Given the description of an element on the screen output the (x, y) to click on. 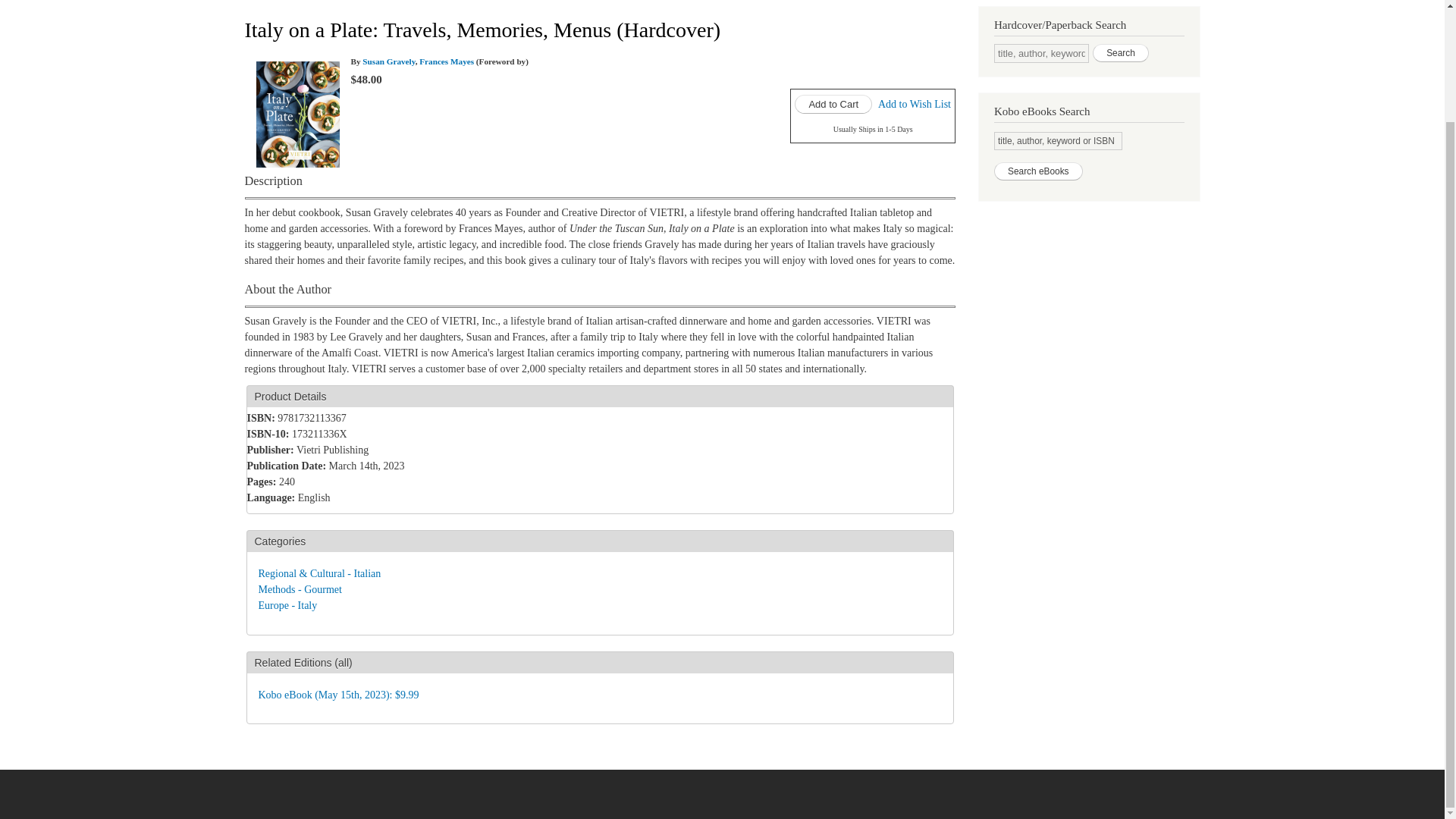
Add to Cart (833, 104)
Search (1120, 53)
Add to Wish List (913, 103)
Enter title, author, keyword or ISBN. (1058, 140)
Search eBooks (1038, 171)
Susan Gravely (388, 61)
title, author, keyword or ISBN (1058, 140)
Search (1120, 53)
Europe - Italy (287, 604)
Search eBooks (1038, 171)
Add to Cart (833, 104)
Methods - Gourmet (298, 589)
Frances Mayes (446, 61)
Enter the terms you wish to search for. (1041, 53)
